Given the description of an element on the screen output the (x, y) to click on. 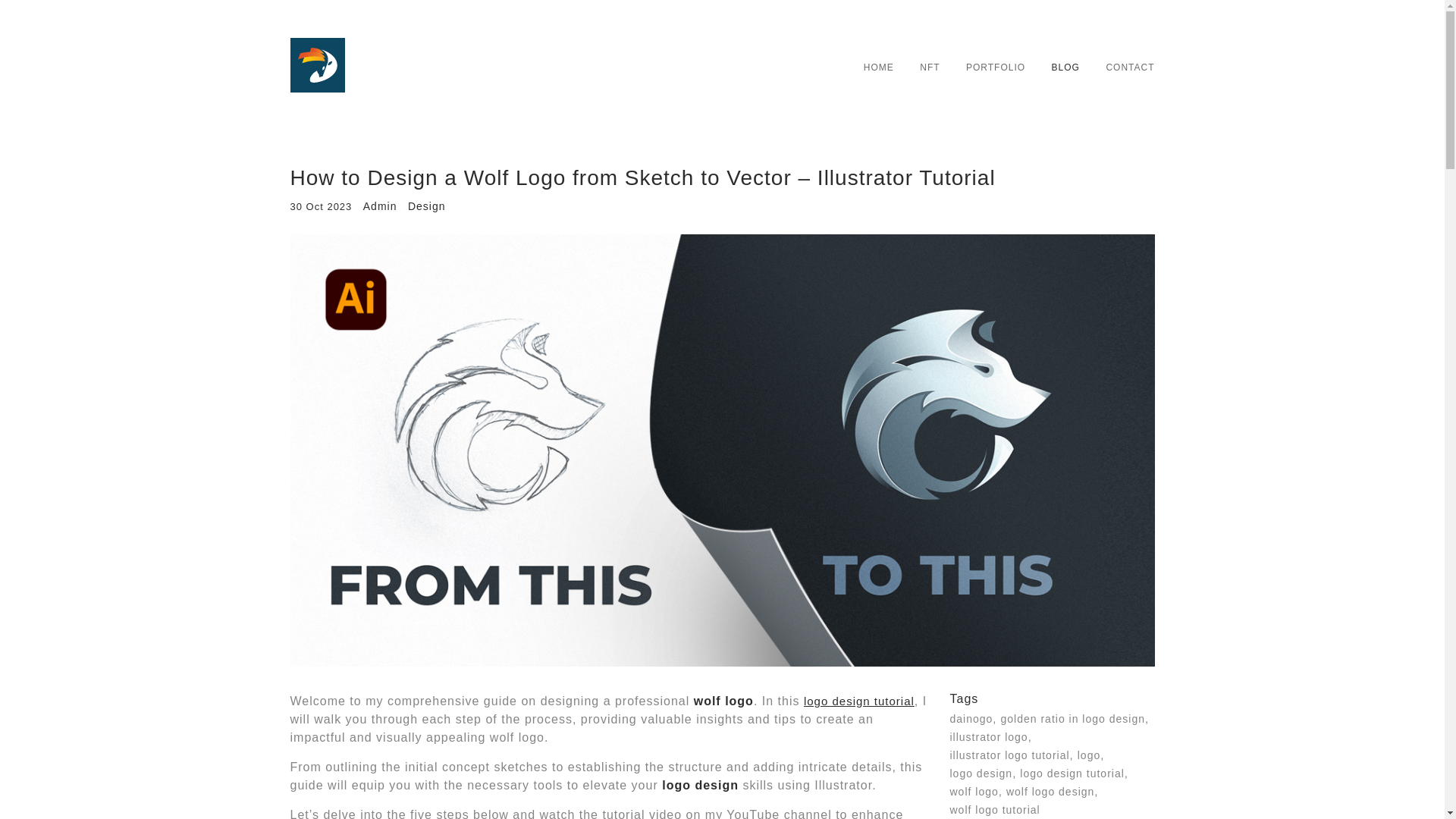
illustrator logo tutorial (1008, 755)
Admin (379, 206)
HOME (878, 67)
NFT (929, 67)
logo design (980, 773)
wolf logo tutorial (994, 809)
CONTACT (1129, 67)
logo (1088, 755)
logo design tutorial (858, 700)
logo design tutorial (1072, 773)
